Given the description of an element on the screen output the (x, y) to click on. 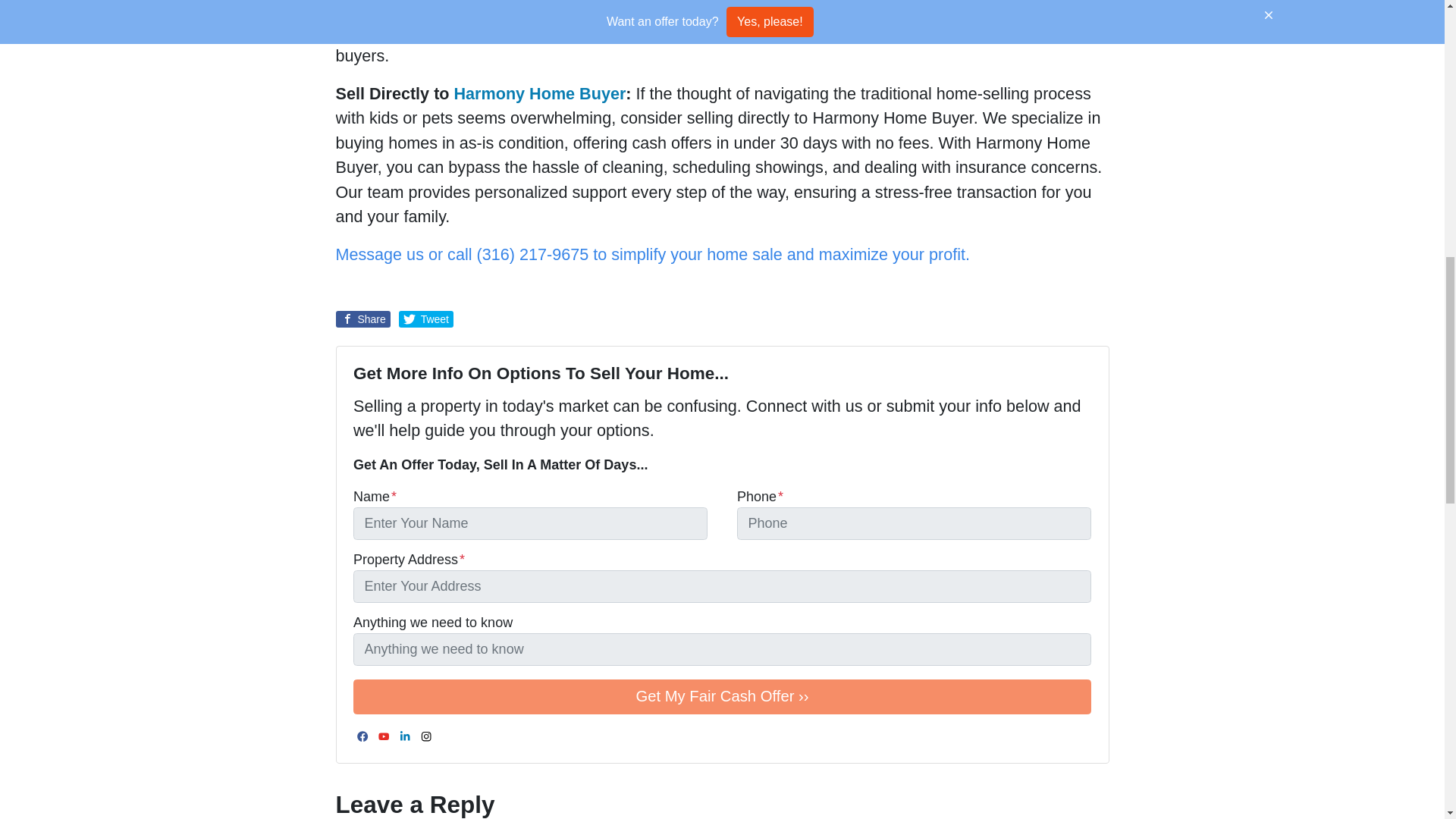
Share on Facebook (362, 319)
Share on Twitter (425, 319)
Share (362, 319)
Harmony Home Buyer (540, 93)
Tweet (425, 319)
LinkedIn (404, 737)
Instagram (425, 737)
Facebook (362, 737)
YouTube (383, 737)
